Given the description of an element on the screen output the (x, y) to click on. 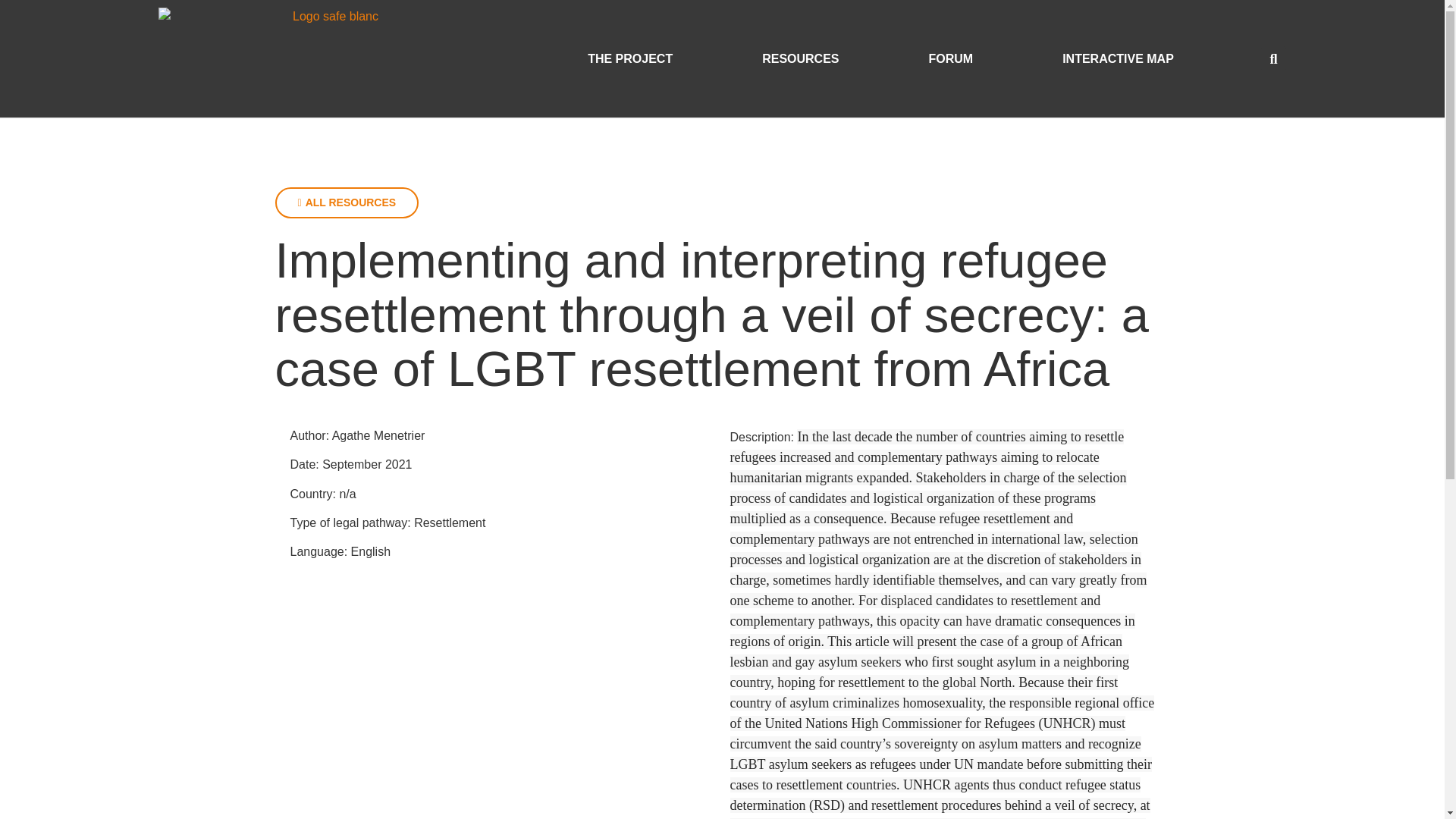
FORUM (951, 58)
ALL RESOURCES (347, 202)
INTERACTIVE MAP (1117, 58)
RESOURCES (800, 58)
THE PROJECT (629, 58)
